Given the description of an element on the screen output the (x, y) to click on. 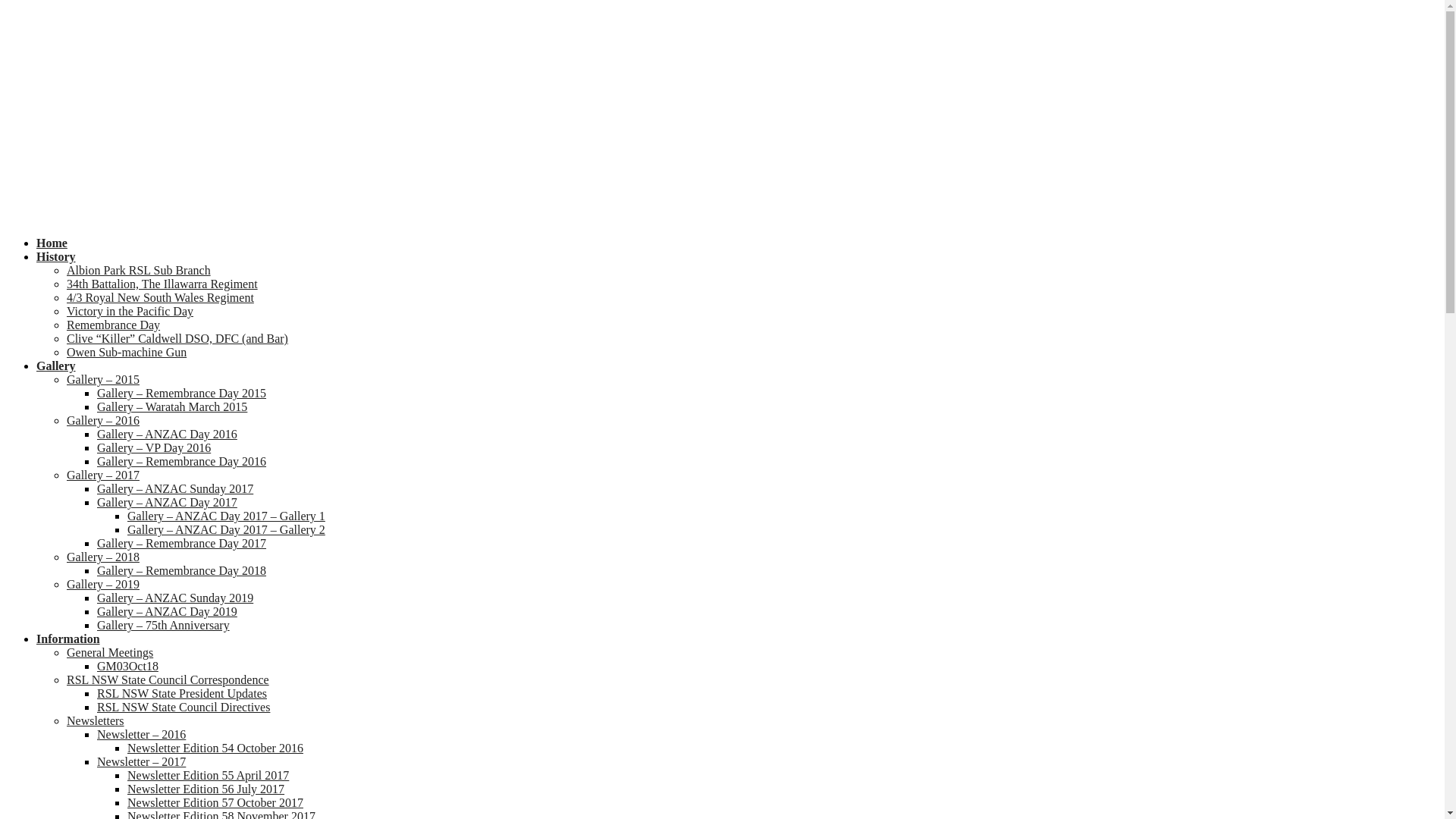
Home Element type: text (51, 242)
34th Battalion, The Illawarra Regiment Element type: text (161, 283)
RSL NSW State Council Correspondence Element type: text (167, 679)
Newsletter Edition 55 April 2017 Element type: text (207, 774)
Victory in the Pacific Day Element type: text (129, 310)
General Meetings Element type: text (109, 652)
4/3 Royal New South Wales Regiment Element type: text (160, 297)
Albion Park RSL Sub Branch Element type: text (138, 269)
Newsletters Element type: text (95, 720)
Information Element type: text (68, 638)
GM03Oct18 Element type: text (127, 665)
RSL NSW State Council Directives Element type: text (183, 706)
Remembrance Day Element type: text (113, 324)
Newsletter Edition 54 October 2016 Element type: text (215, 747)
Newsletter Edition 57 October 2017 Element type: text (215, 802)
History Element type: text (55, 256)
Newsletter Edition 56 July 2017 Element type: text (205, 788)
Owen Sub-machine Gun Element type: text (126, 351)
RSL NSW State President Updates Element type: text (181, 693)
Gallery Element type: text (55, 365)
